Given the description of an element on the screen output the (x, y) to click on. 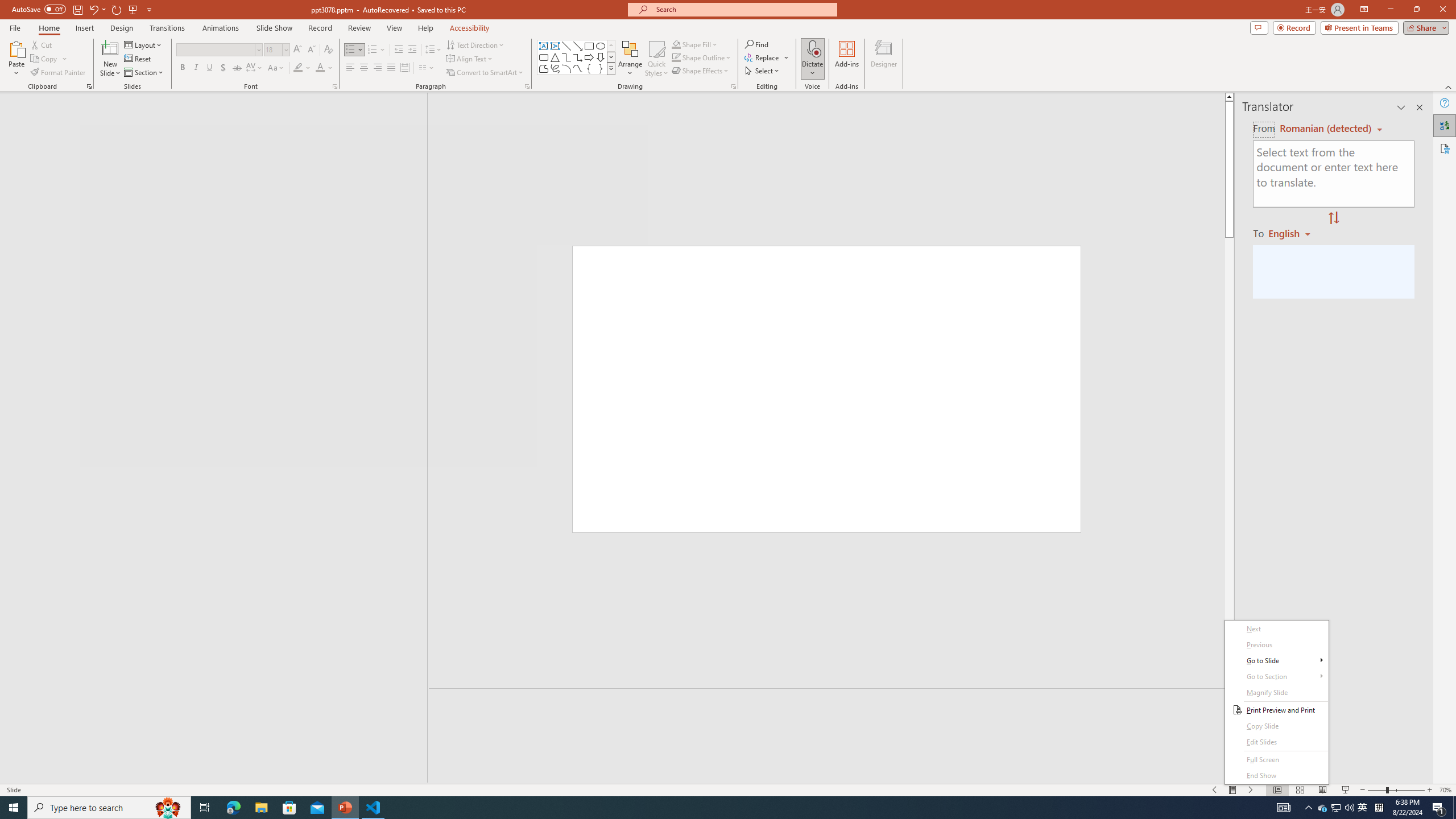
Bullets (354, 49)
AutomationID: ShapesInsertGallery (576, 57)
User Promoted Notification Area (1336, 807)
Rectangle: Rounded Corners (543, 57)
Visual Studio Code - 1 running window (373, 807)
Connector: Elbow (566, 57)
Class: NetUITWMenuContainer (1276, 701)
Change Case (276, 67)
Increase Indent (412, 49)
Replace... (767, 56)
Paste (16, 58)
Paragraph... (526, 85)
